Given the description of an element on the screen output the (x, y) to click on. 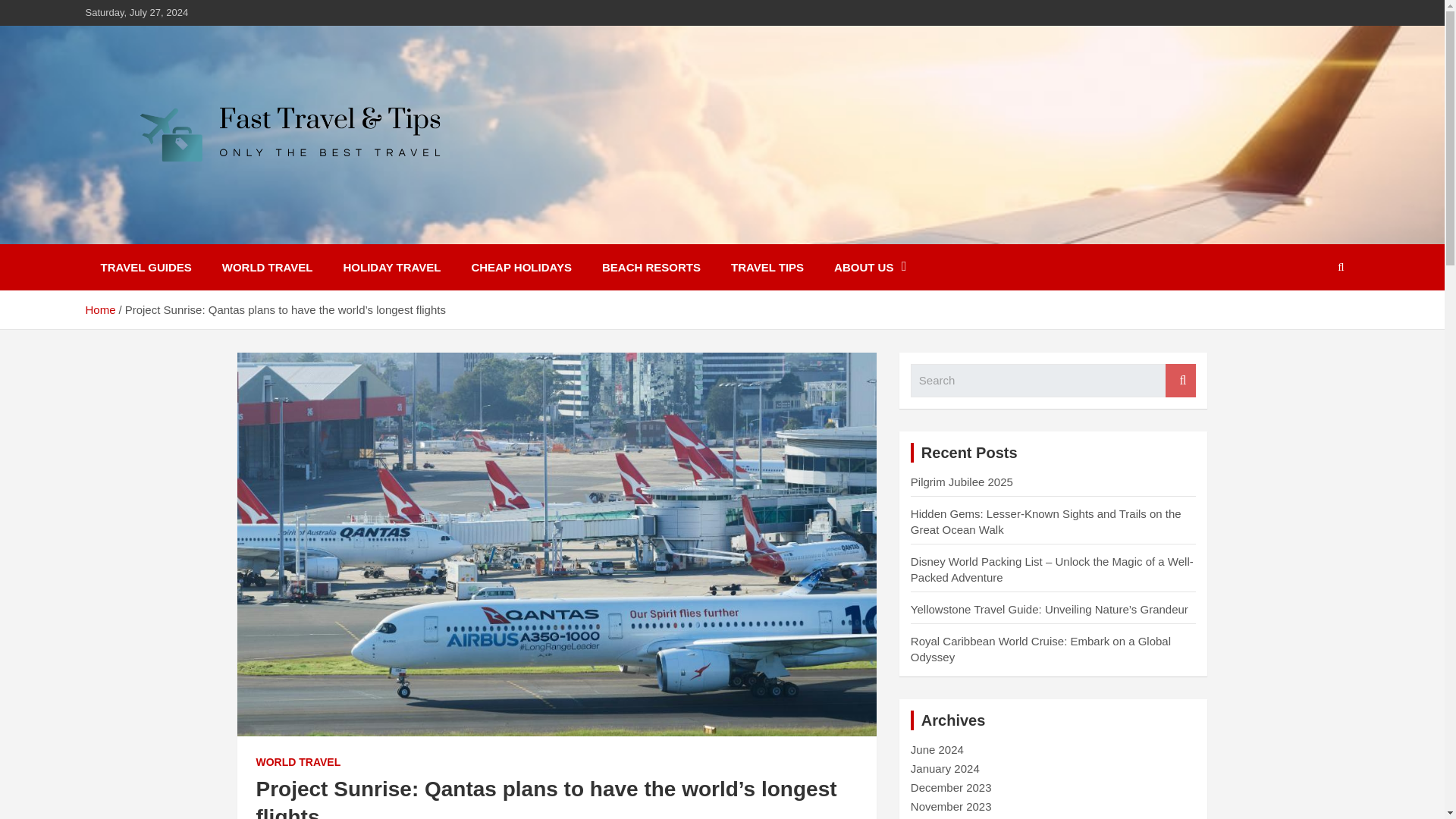
Royal Caribbean World Cruise: Embark on a Global Odyssey (1040, 648)
November 2023 (951, 806)
December 2023 (951, 787)
TRAVEL GUIDES (145, 267)
ABOUT US (869, 267)
BEACH RESORTS (651, 267)
HOLIDAY TRAVEL (393, 267)
January 2024 (945, 768)
June 2024 (937, 748)
TRAVEL TIPS (767, 267)
WORLD TRAVEL (267, 267)
Pilgrim Jubilee 2025 (962, 481)
CHEAP HOLIDAYS (520, 267)
Home (99, 309)
